Given the description of an element on the screen output the (x, y) to click on. 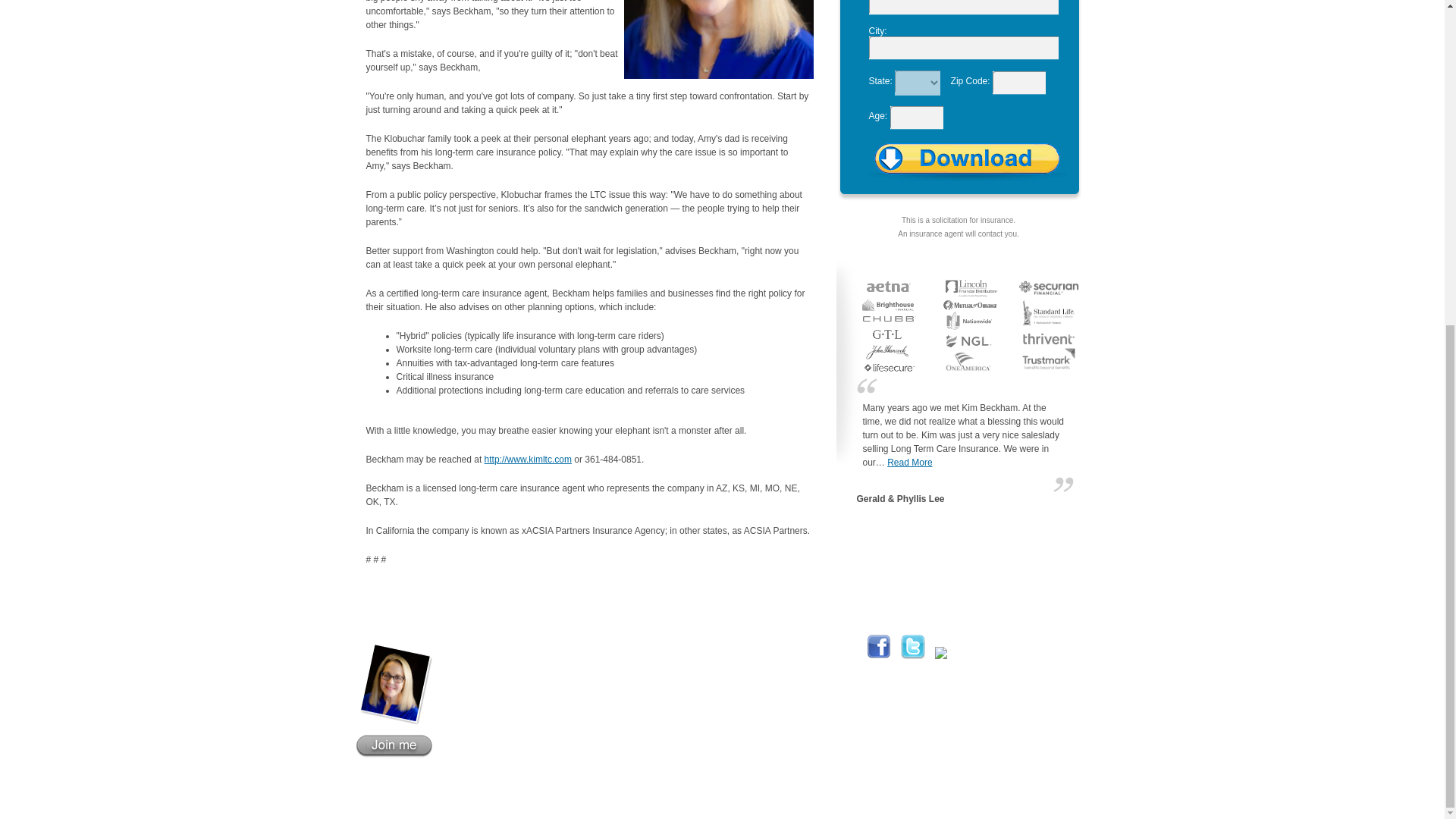
ACSIA Partners LLC (655, 798)
Read More (908, 462)
361-484-0851 (550, 736)
Privacy Policy (811, 798)
Terms of Use (872, 798)
long term care insurance (655, 798)
